Given the description of an element on the screen output the (x, y) to click on. 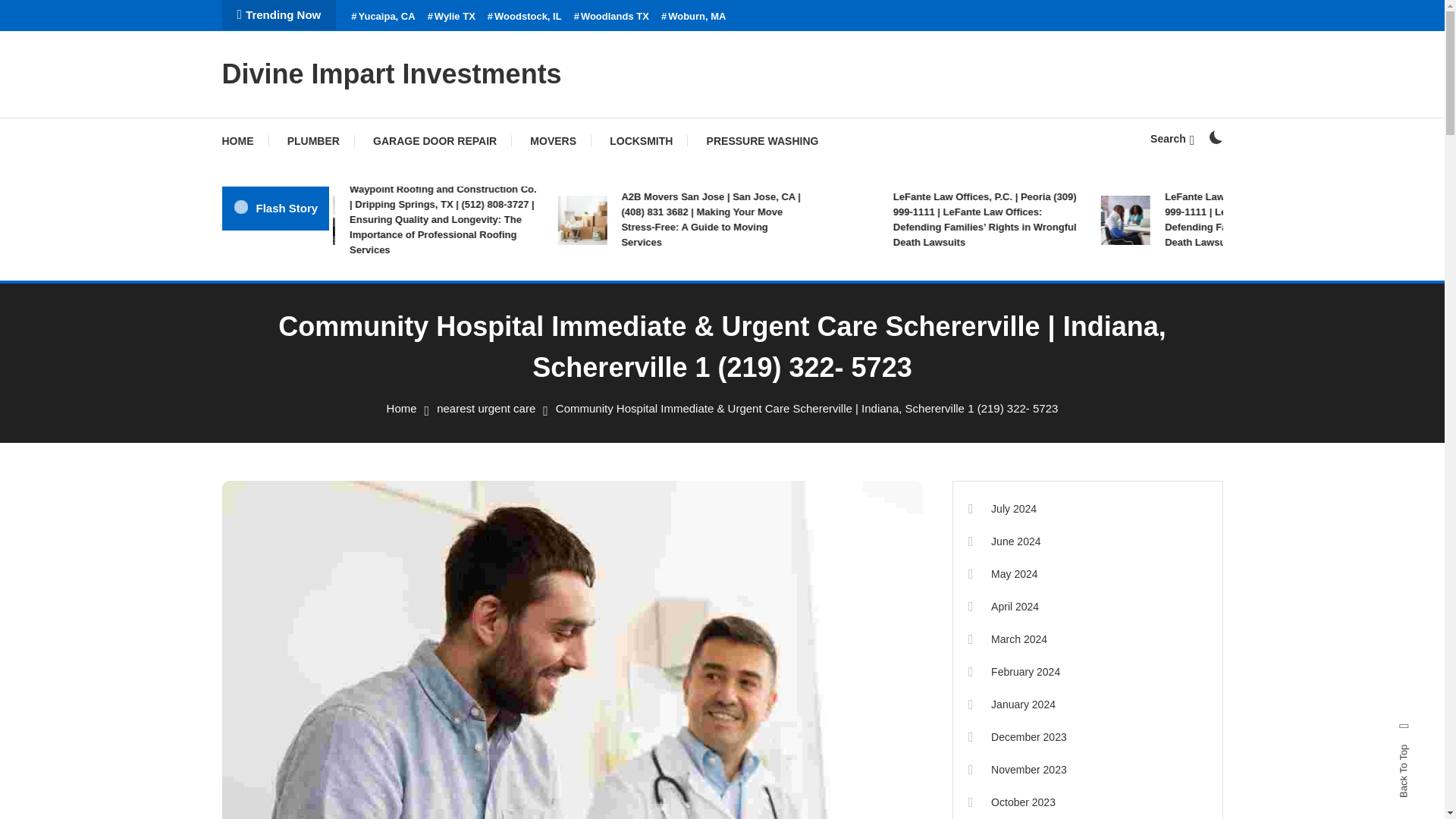
Search (1171, 138)
GARAGE DOOR REPAIR (435, 140)
Search (768, 434)
HOME (244, 140)
Yucaipa, CA (382, 16)
Wylie TX (452, 16)
nearest urgent care (485, 408)
PRESSURE WASHING (762, 140)
on (1215, 137)
MOVERS (553, 140)
Divine Impart Investments (390, 73)
LOCKSMITH (640, 140)
Woburn, MA (693, 16)
PLUMBER (313, 140)
Woodstock, IL (524, 16)
